Given the description of an element on the screen output the (x, y) to click on. 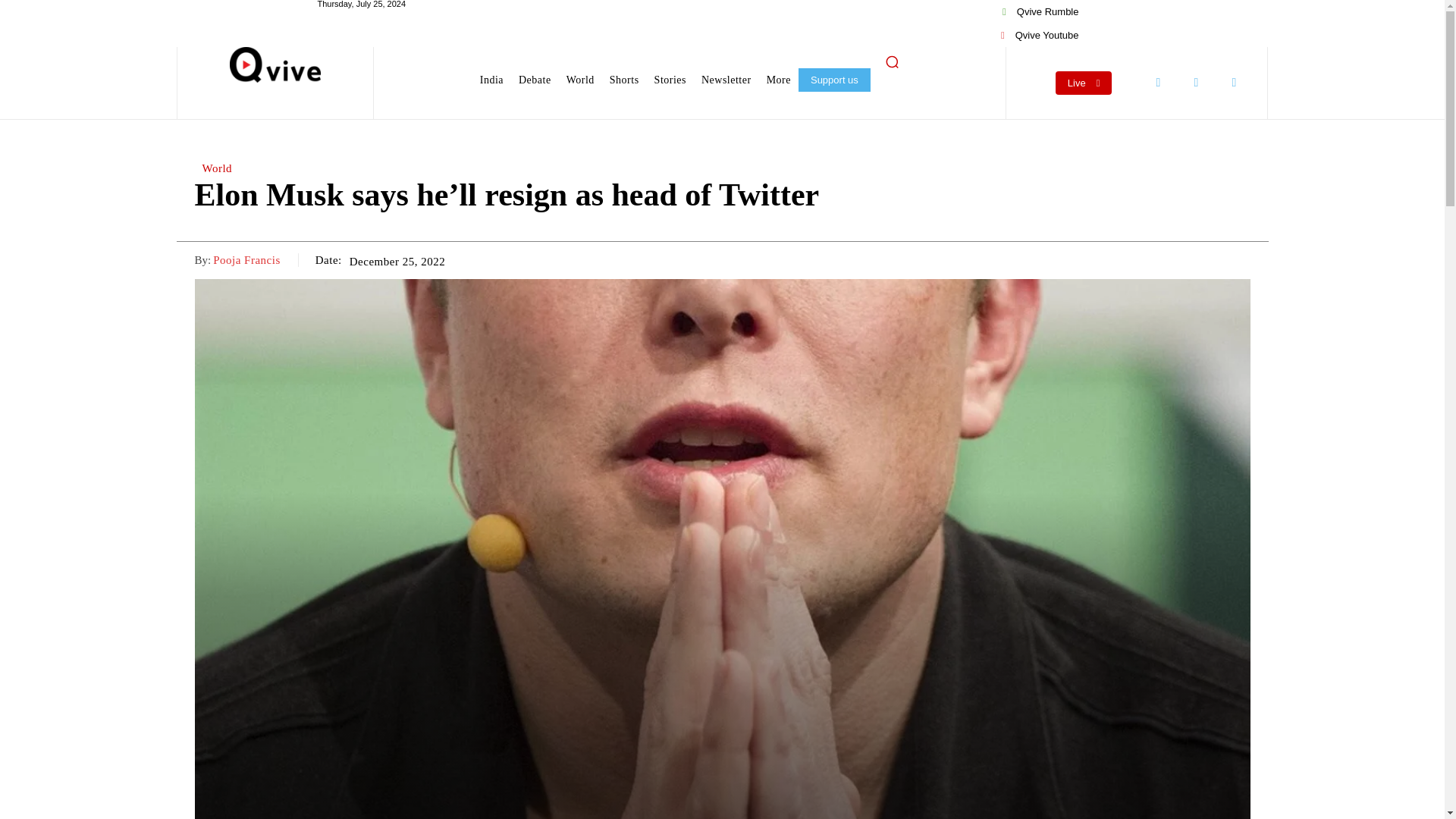
Qvive Rumble (1040, 11)
Support us (833, 79)
Live (1083, 83)
Telegram (1233, 82)
Qvive Rumble (1040, 11)
Newsletter (726, 79)
Qvive Youtube (1039, 34)
Support us (833, 79)
Twitter (1195, 82)
Live (1083, 83)
Facebook (1157, 82)
Qvive Youtube (1039, 34)
